Given the description of an element on the screen output the (x, y) to click on. 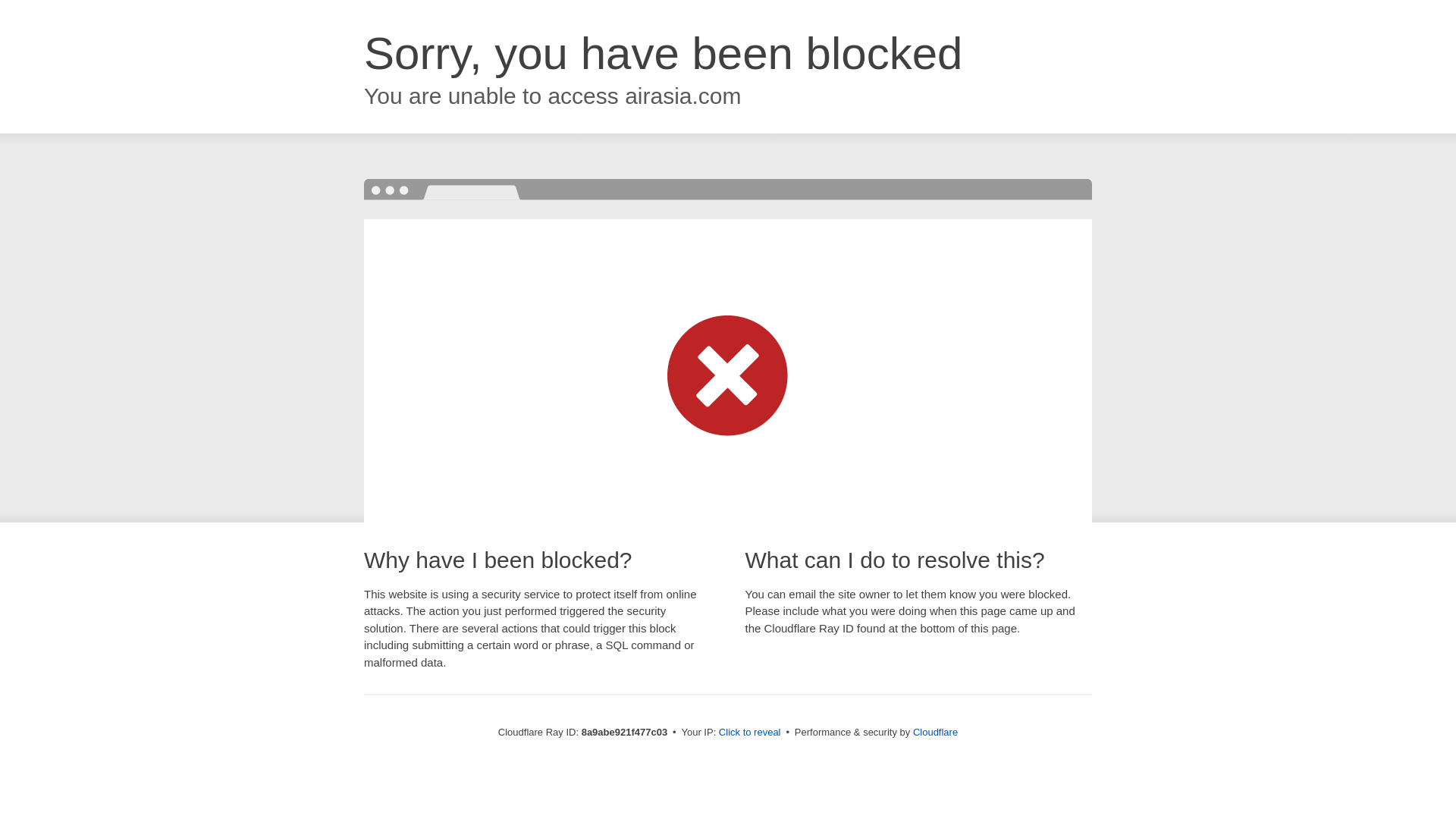
Cloudflare (935, 731)
Click to reveal (749, 732)
